Given the description of an element on the screen output the (x, y) to click on. 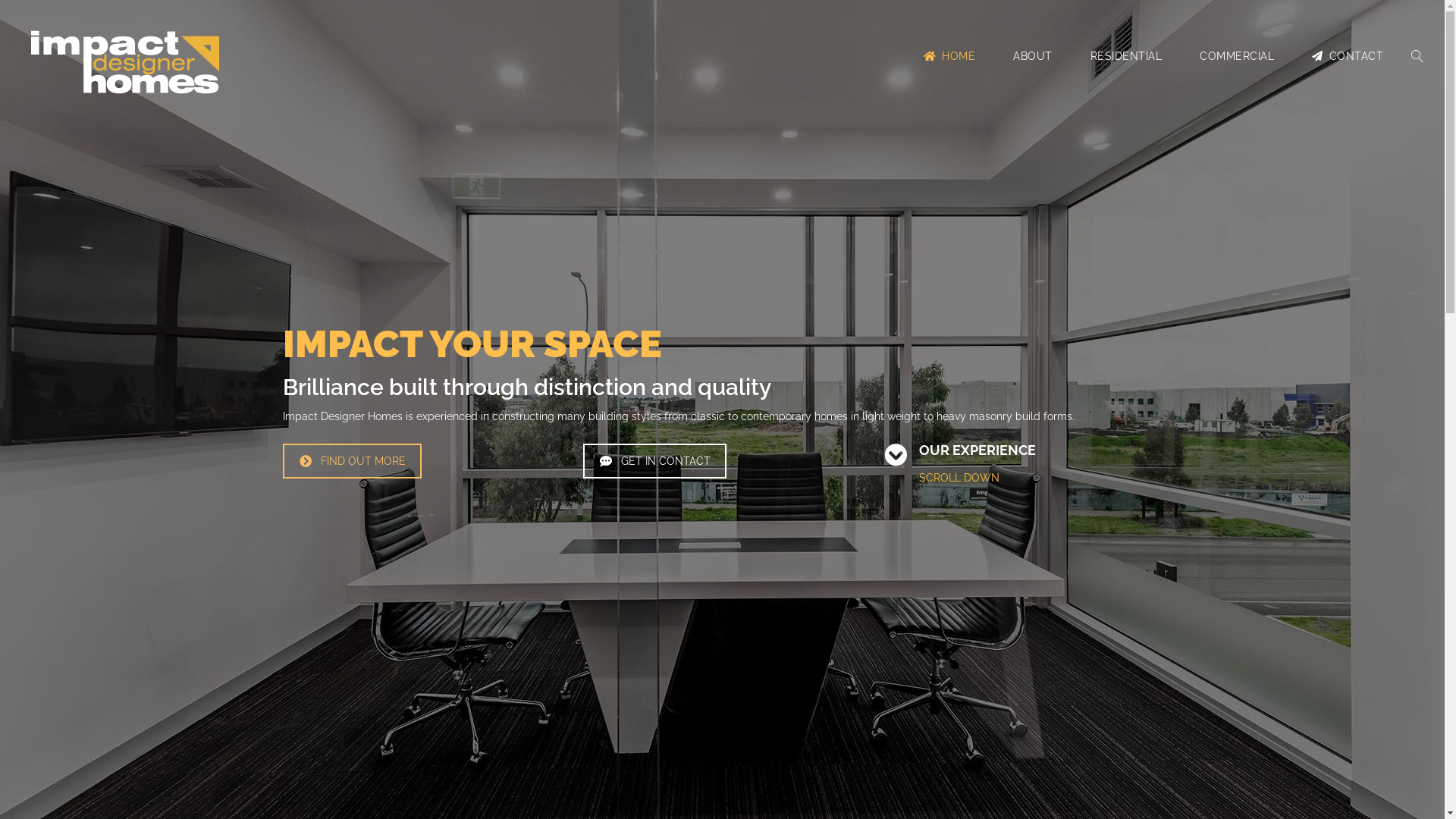
CONTACT Element type: text (1347, 56)
FIND OUT MORE Element type: text (351, 459)
COMMERCIAL Element type: text (1236, 56)
HOME Element type: text (948, 56)
Impact Designer Homes Element type: hover (125, 62)
SCROLL DOWN Element type: text (959, 477)
GET IN CONTACT Element type: text (654, 459)
ABOUT Element type: text (1032, 56)
RESIDENTIAL Element type: text (1125, 56)
